Given the description of an element on the screen output the (x, y) to click on. 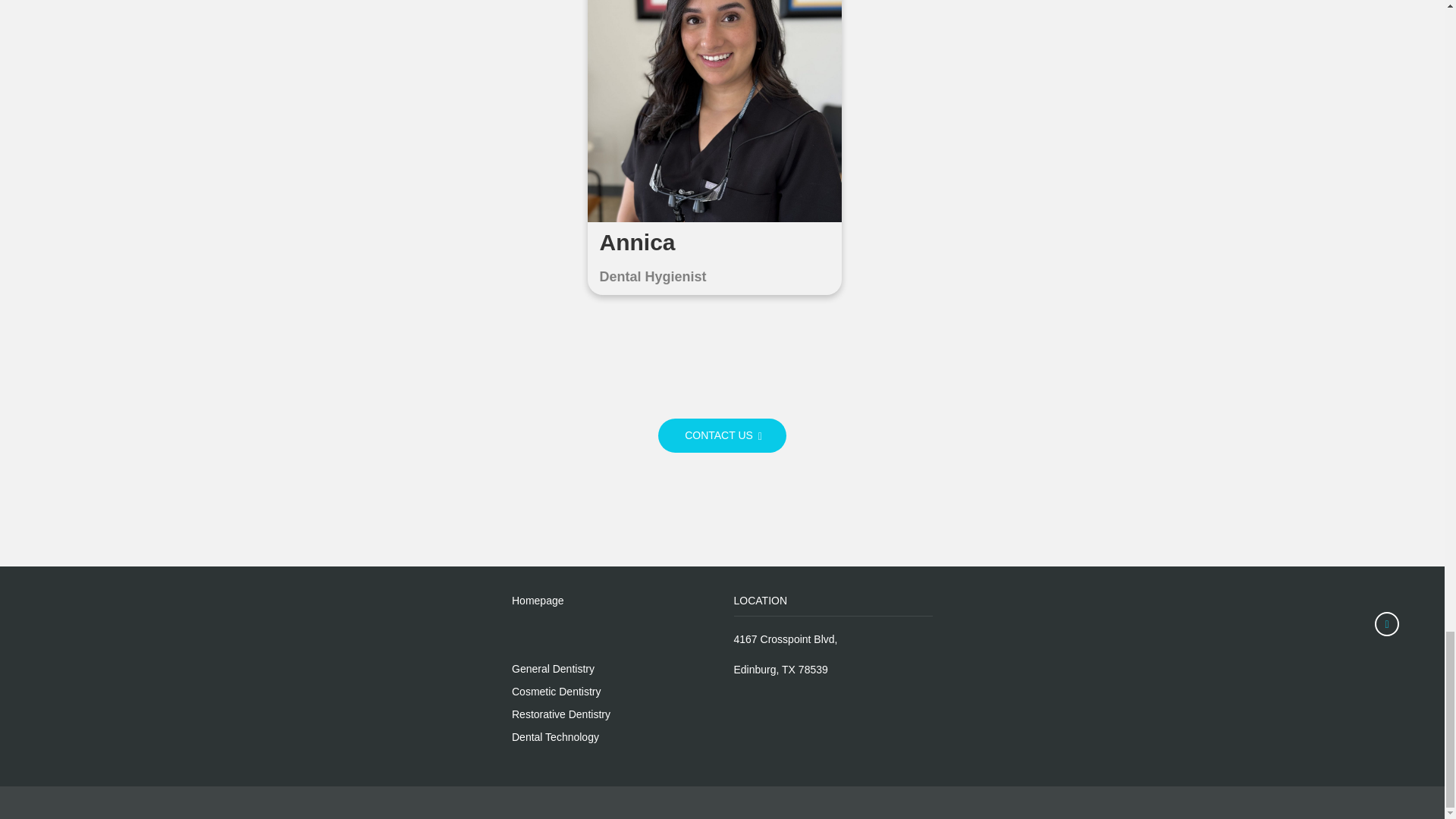
Cosmetic Dentistry (555, 691)
Homepage (538, 600)
Dental Technology (555, 736)
Restorative Dentistry (561, 714)
Contact Us (722, 435)
General Dentistry (553, 668)
CONTACT US (722, 435)
